Given the description of an element on the screen output the (x, y) to click on. 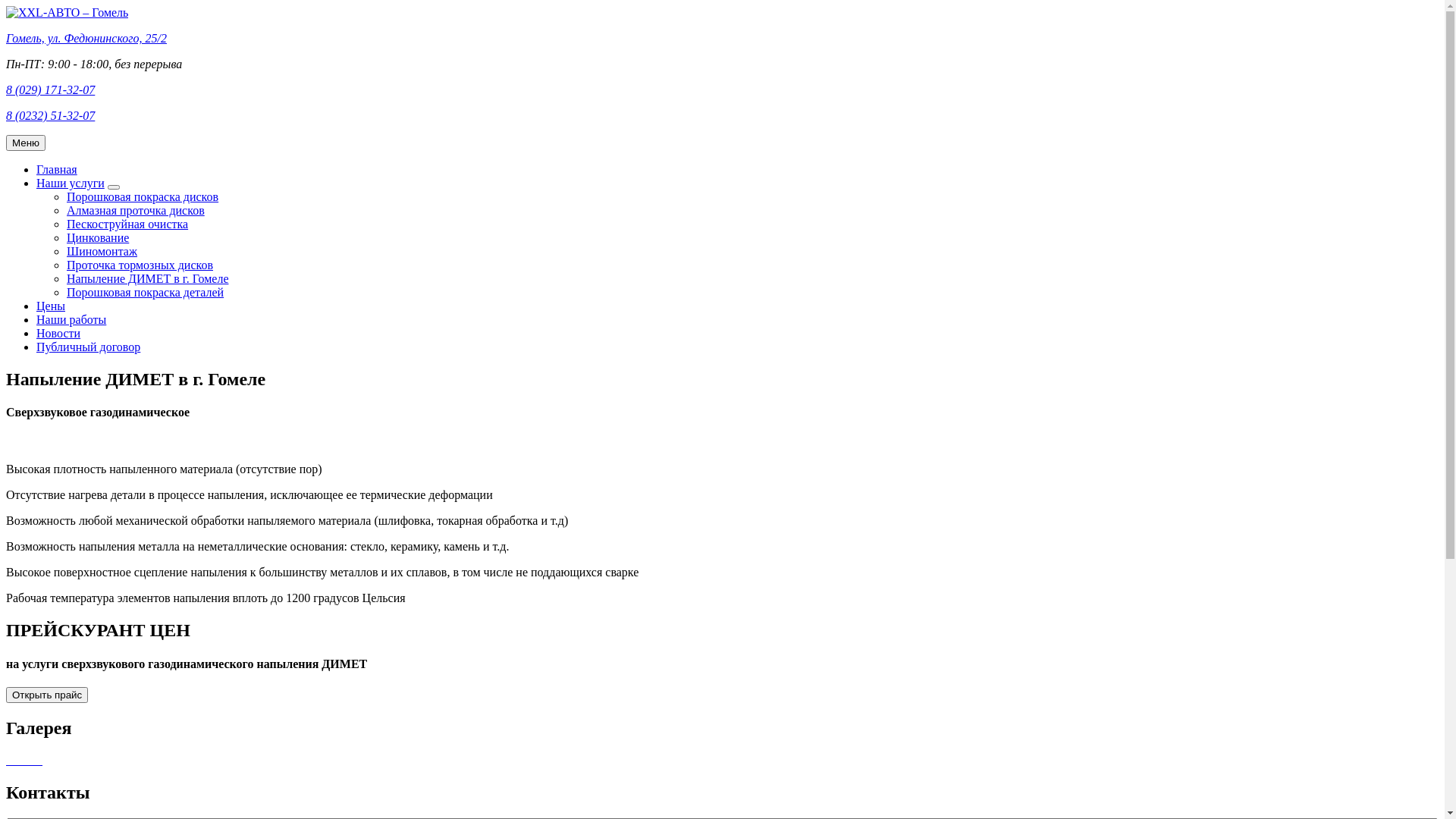
8 (0232) 51-32-07 Element type: text (50, 115)
8 (029) 171-32-07 Element type: text (50, 89)
